Given the description of an element on the screen output the (x, y) to click on. 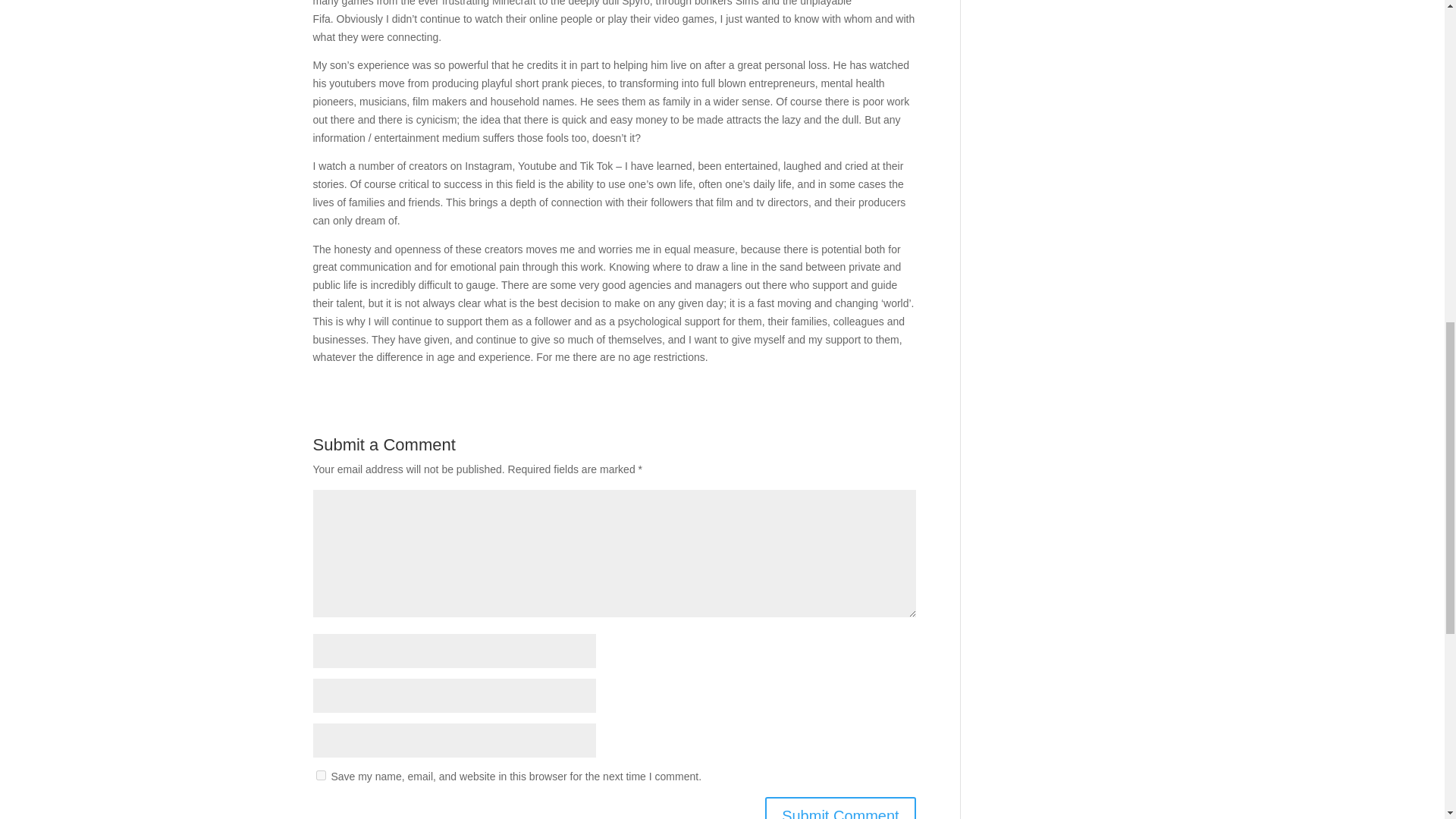
Submit Comment (840, 807)
yes (319, 775)
Submit Comment (840, 807)
